Given the description of an element on the screen output the (x, y) to click on. 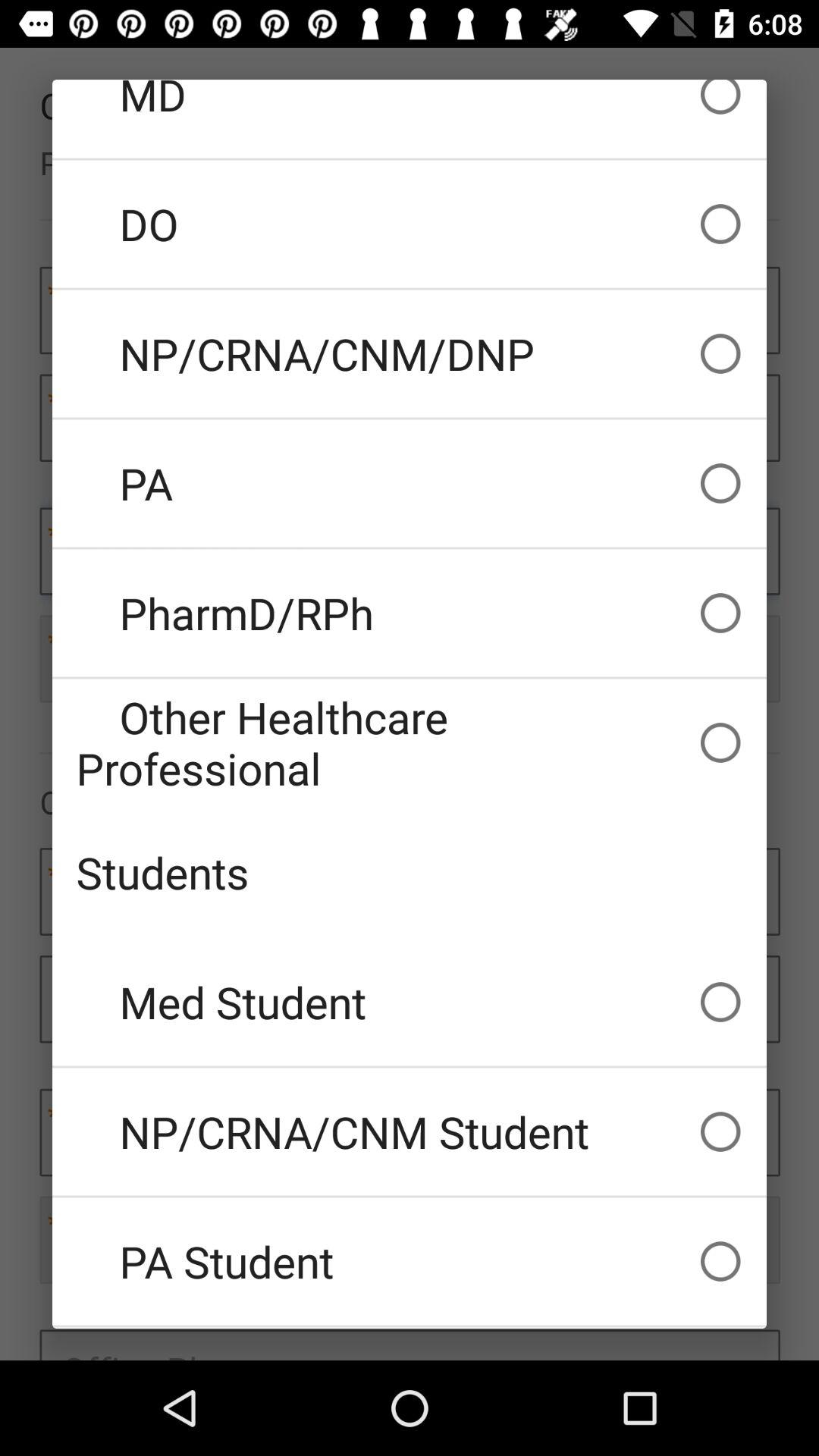
turn off the     pharmacy student icon (409, 1327)
